Given the description of an element on the screen output the (x, y) to click on. 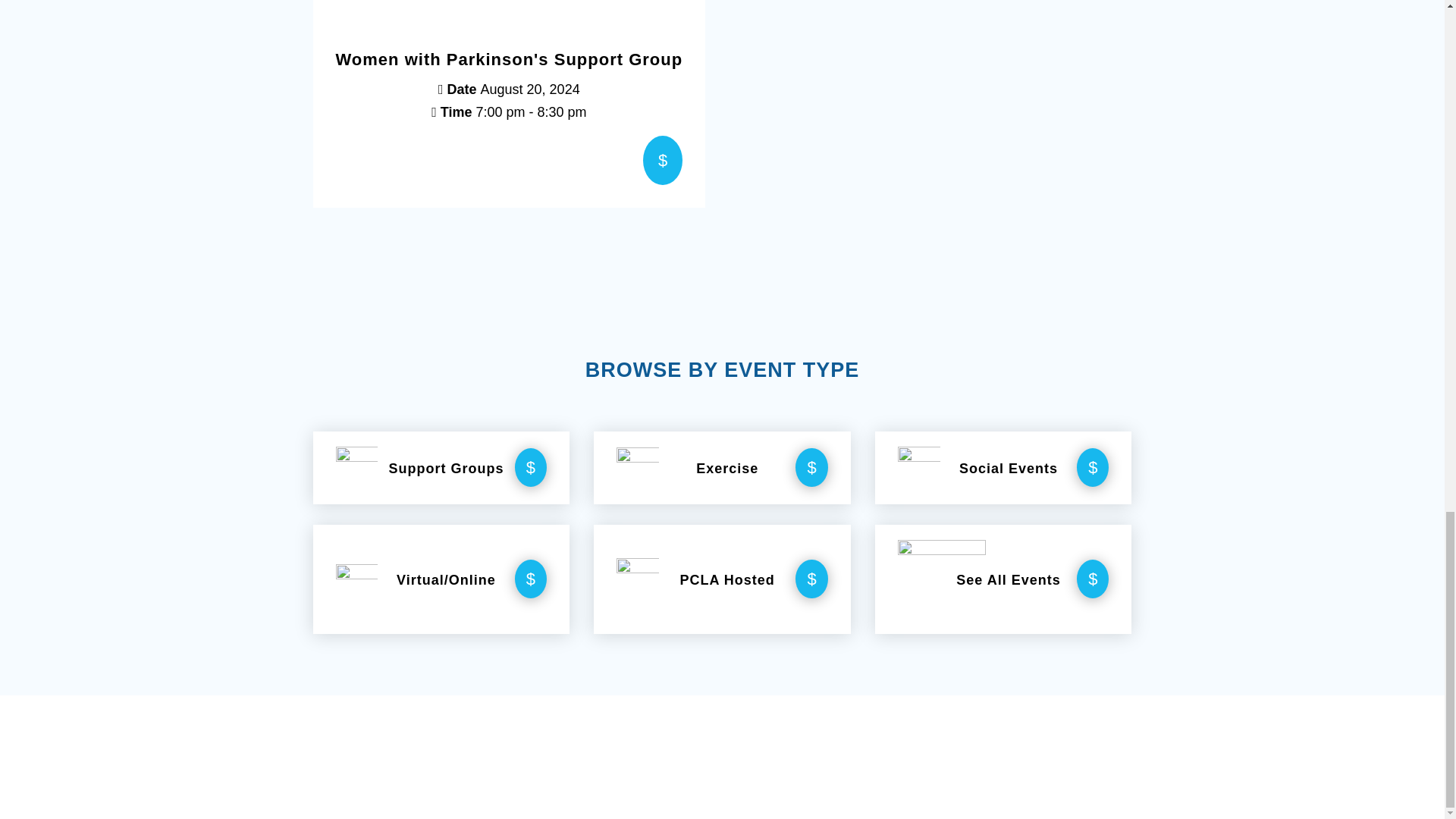
Social Events (919, 467)
exercise (637, 467)
calendar (941, 579)
support (355, 467)
Logo-PCLA-Small (637, 578)
Virtual Online (355, 578)
